Given the description of an element on the screen output the (x, y) to click on. 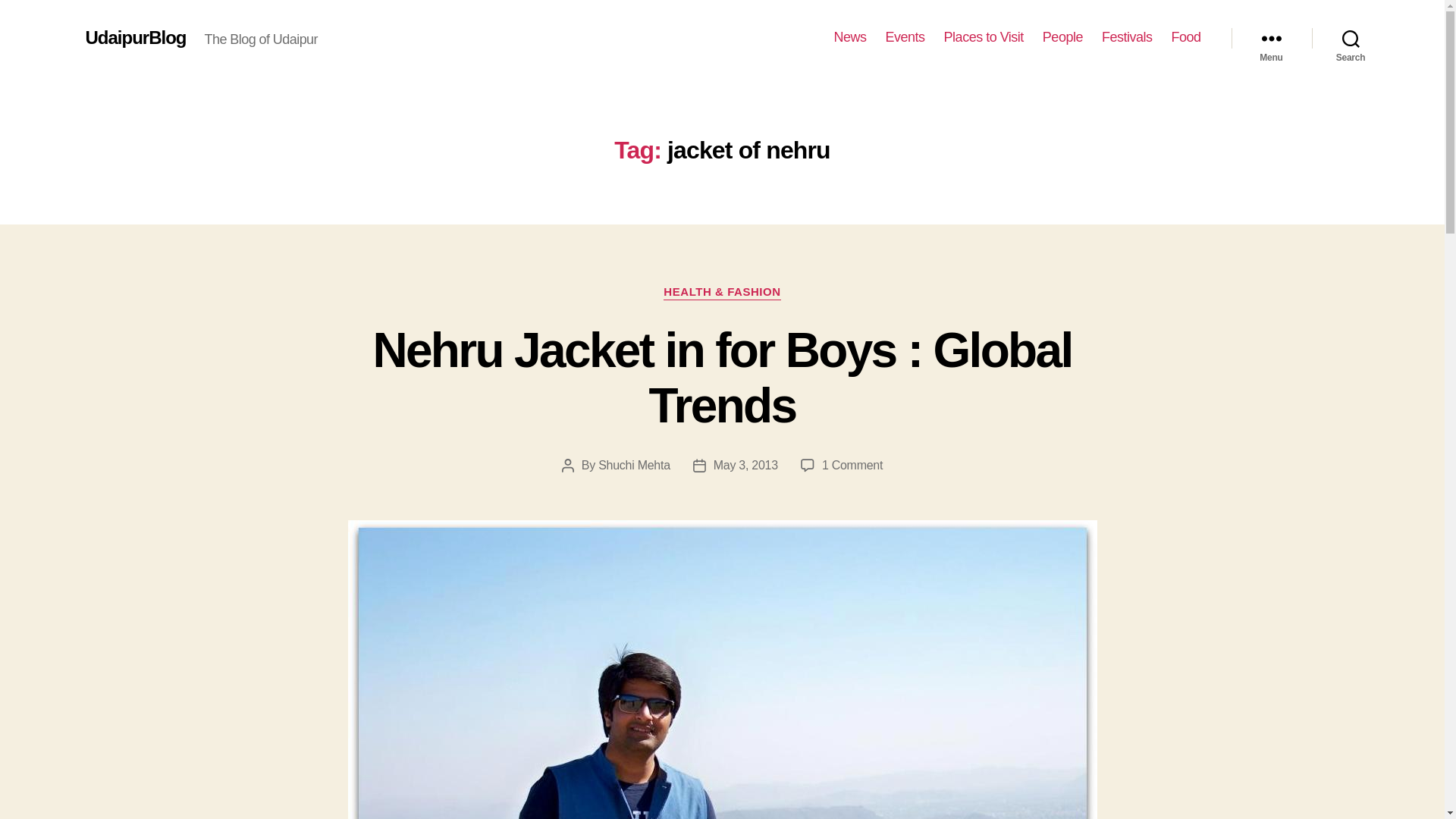
Menu (1271, 37)
May 3, 2013 (852, 464)
News (745, 464)
People (850, 37)
Places to Visit (1062, 37)
Shuchi Mehta (983, 37)
Search (633, 464)
Festivals (1350, 37)
UdaipurBlog (1127, 37)
Events (135, 37)
Food (904, 37)
Nehru Jacket in for Boys : Global Trends (1184, 37)
